Given the description of an element on the screen output the (x, y) to click on. 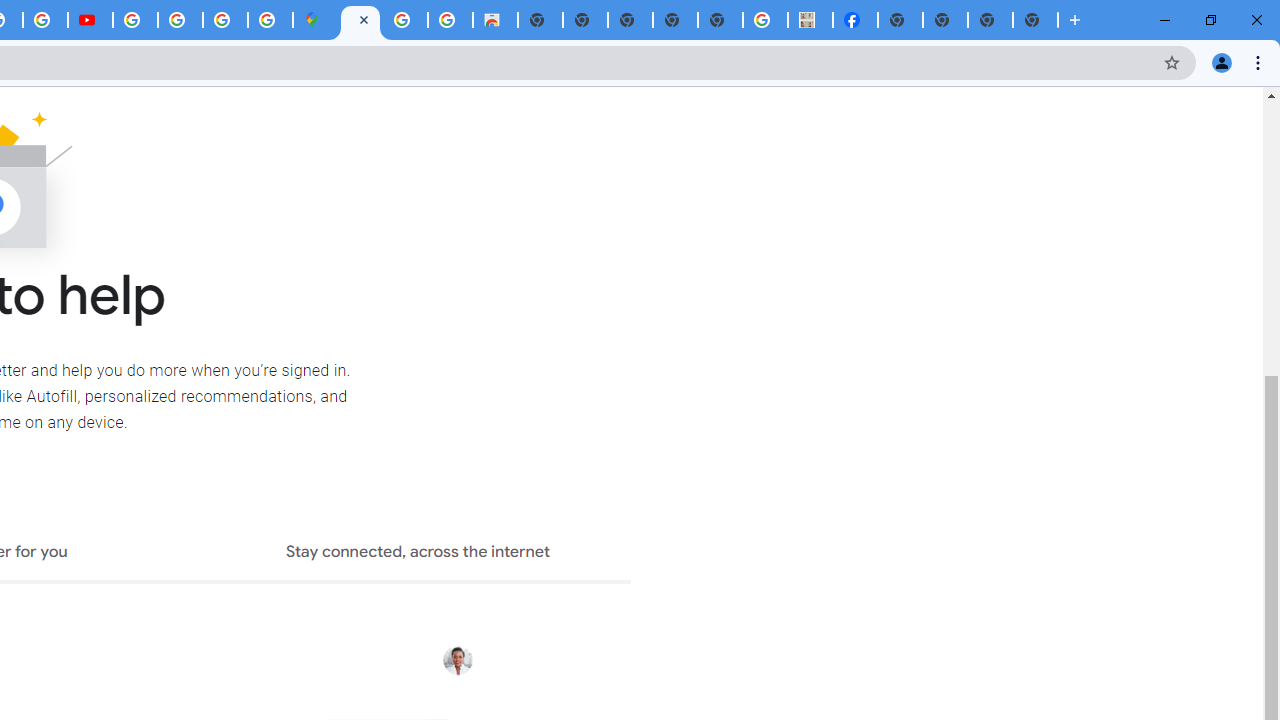
Stay connected, across the internet (417, 553)
Subscriptions - YouTube (89, 20)
MILEY CYRUS. (810, 20)
New Tab (900, 20)
Miley Cyrus | Facebook (855, 20)
